Given the description of an element on the screen output the (x, y) to click on. 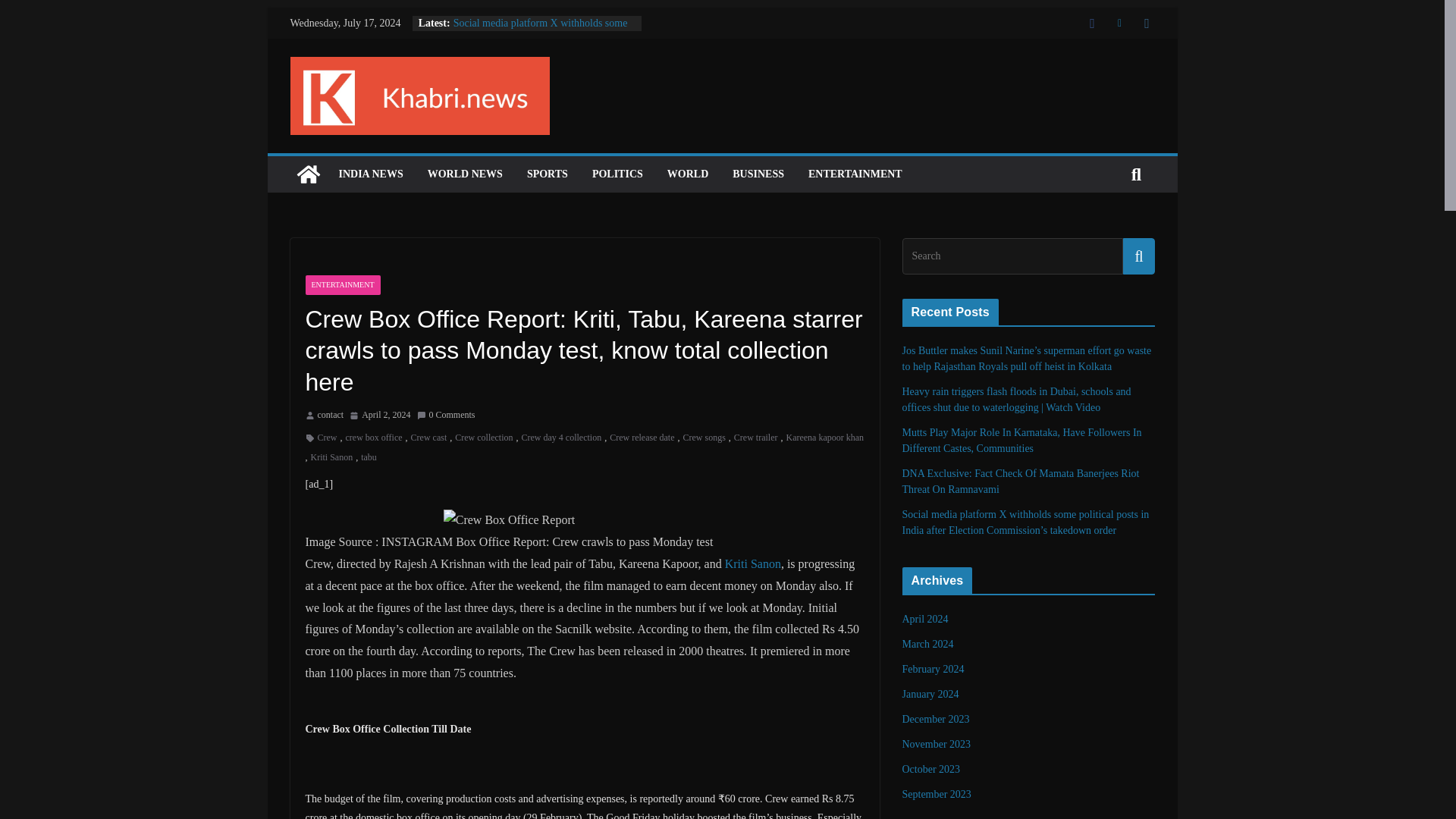
contact (330, 415)
Crew (326, 437)
April 2, 2024 (379, 415)
POLITICS (617, 174)
WORLD (686, 174)
ENTERTAINMENT (855, 174)
Crew collection (483, 437)
SPORTS (547, 174)
0 Comments (446, 415)
2:35 am (379, 415)
tabu (369, 457)
BUSINESS (758, 174)
Kriti Sanon (752, 563)
Kareena kapoor khan (824, 437)
